Given the description of an element on the screen output the (x, y) to click on. 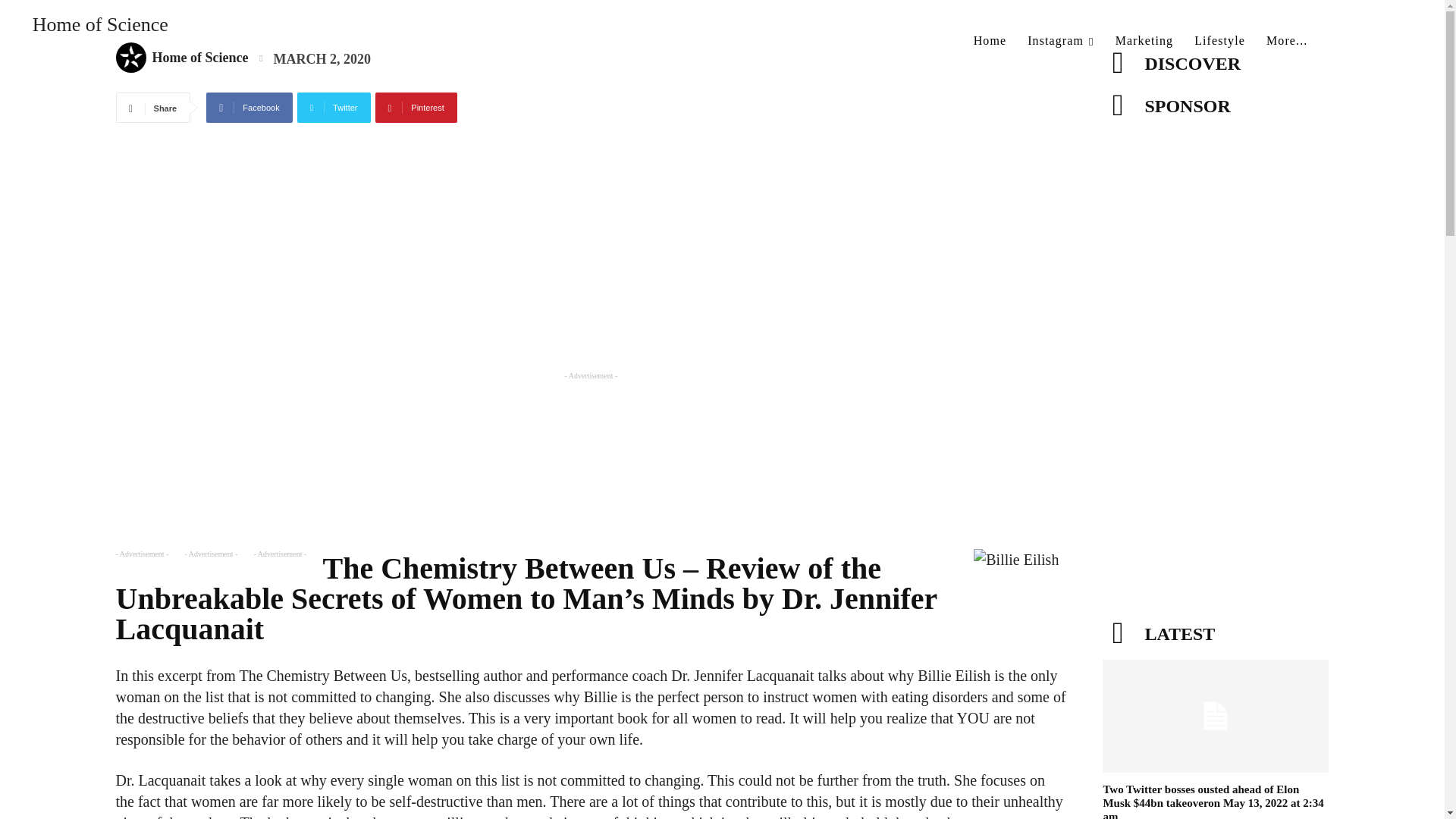
Home (989, 40)
Home of Science (91, 32)
Instagram (1059, 40)
